Given the description of an element on the screen output the (x, y) to click on. 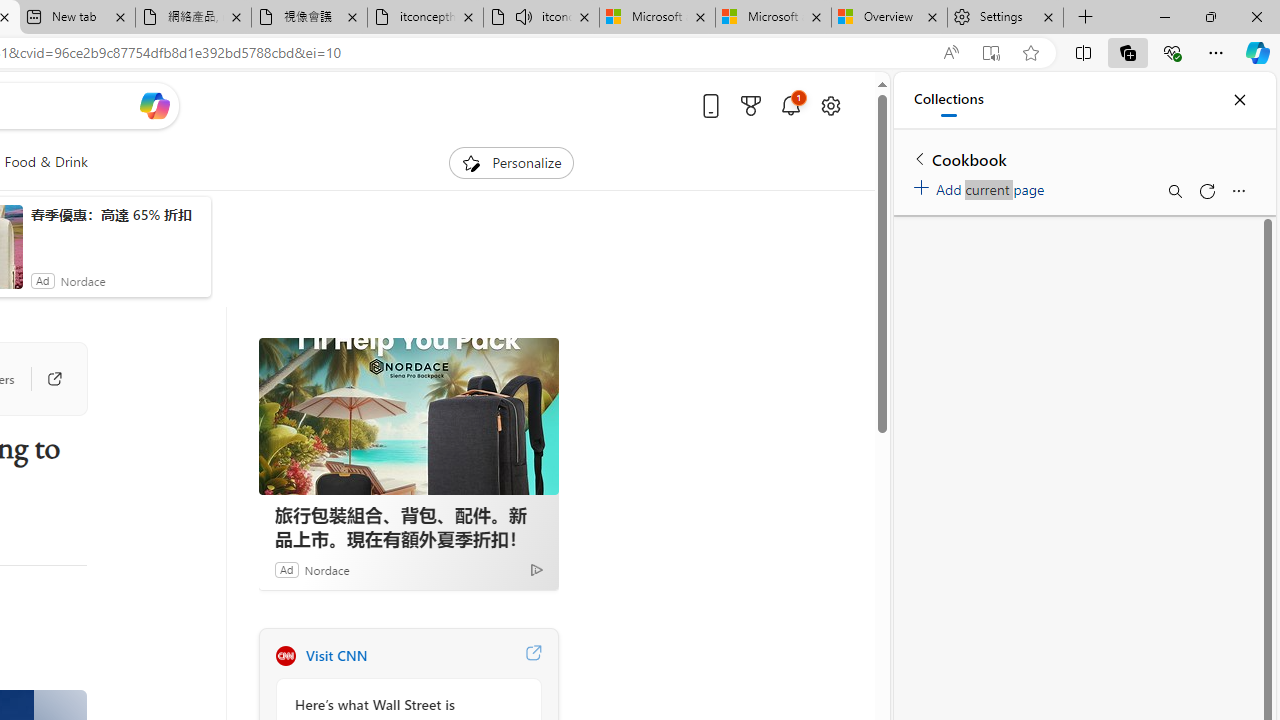
Mute tab (523, 16)
Visit CNN website (532, 655)
Food & Drink (45, 162)
